Given the description of an element on the screen output the (x, y) to click on. 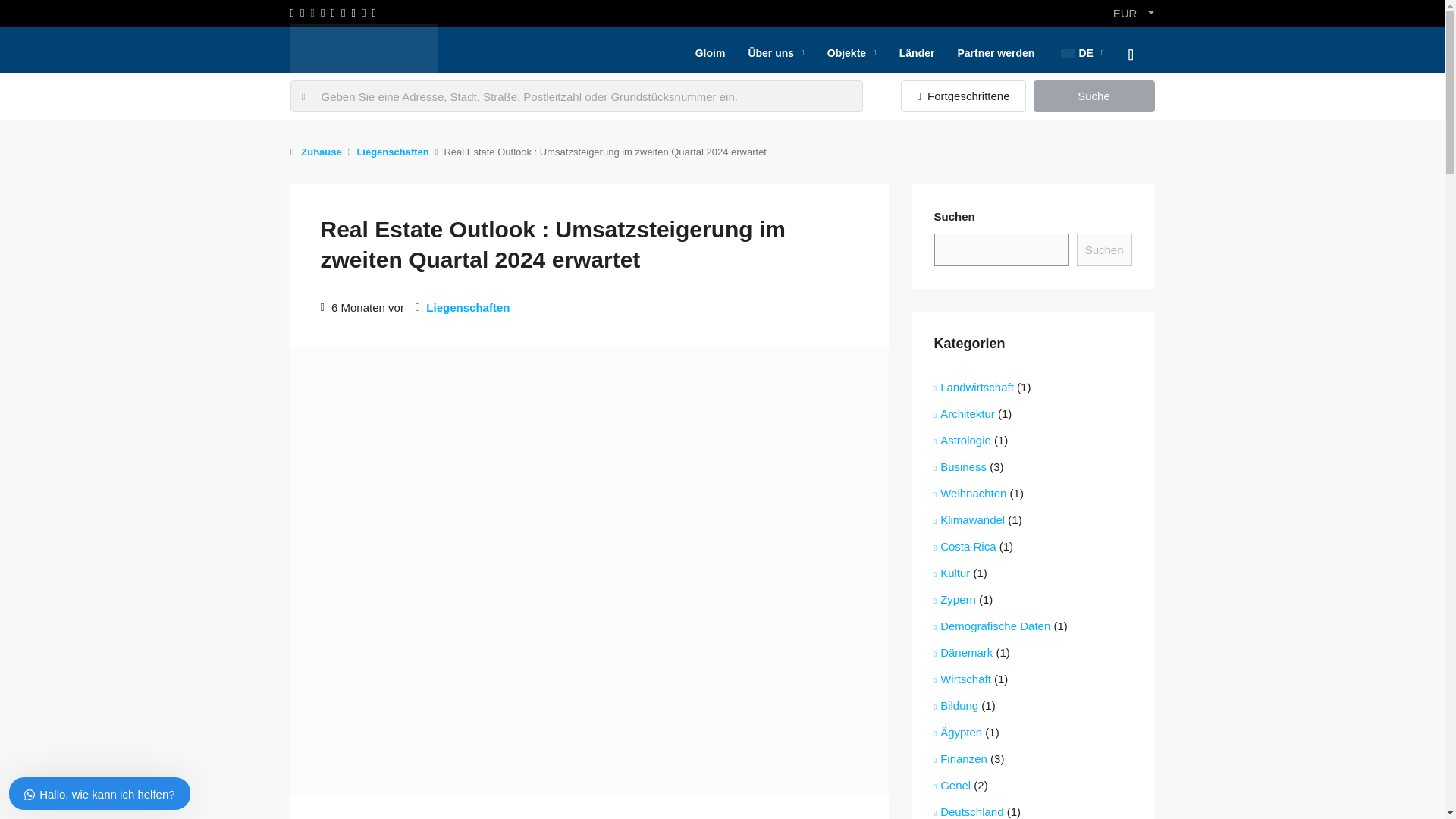
EUR (1133, 13)
Gloim (710, 53)
German (1067, 52)
